Given the description of an element on the screen output the (x, y) to click on. 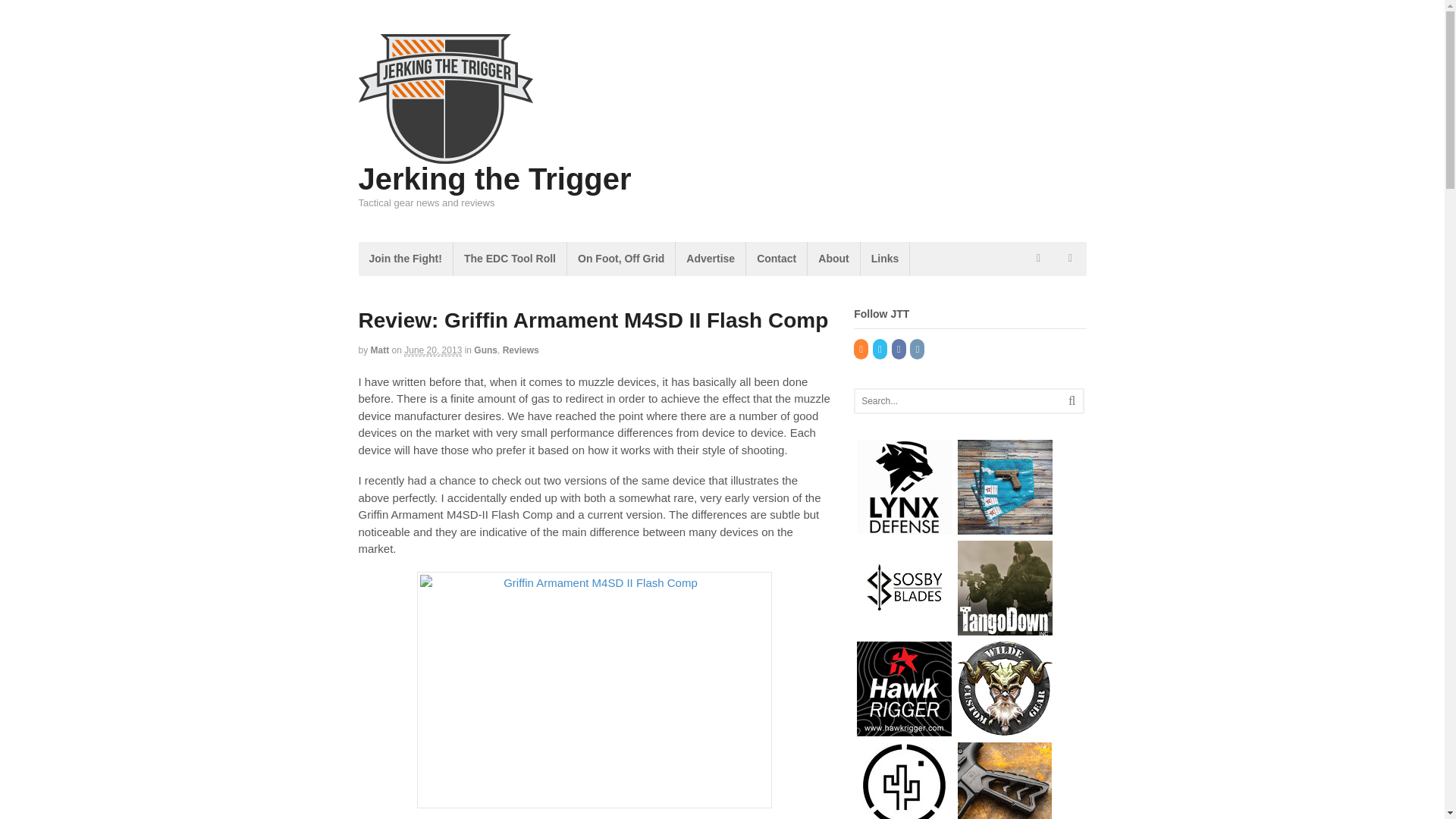
Contact (775, 258)
Guns (485, 349)
Advertise (710, 258)
View all items in Guns (485, 349)
About (833, 258)
Search... (958, 400)
The EDC Tool Roll (509, 258)
Tactical gear news and reviews (445, 155)
Jerking the Trigger (494, 178)
Links (885, 258)
